Given the description of an element on the screen output the (x, y) to click on. 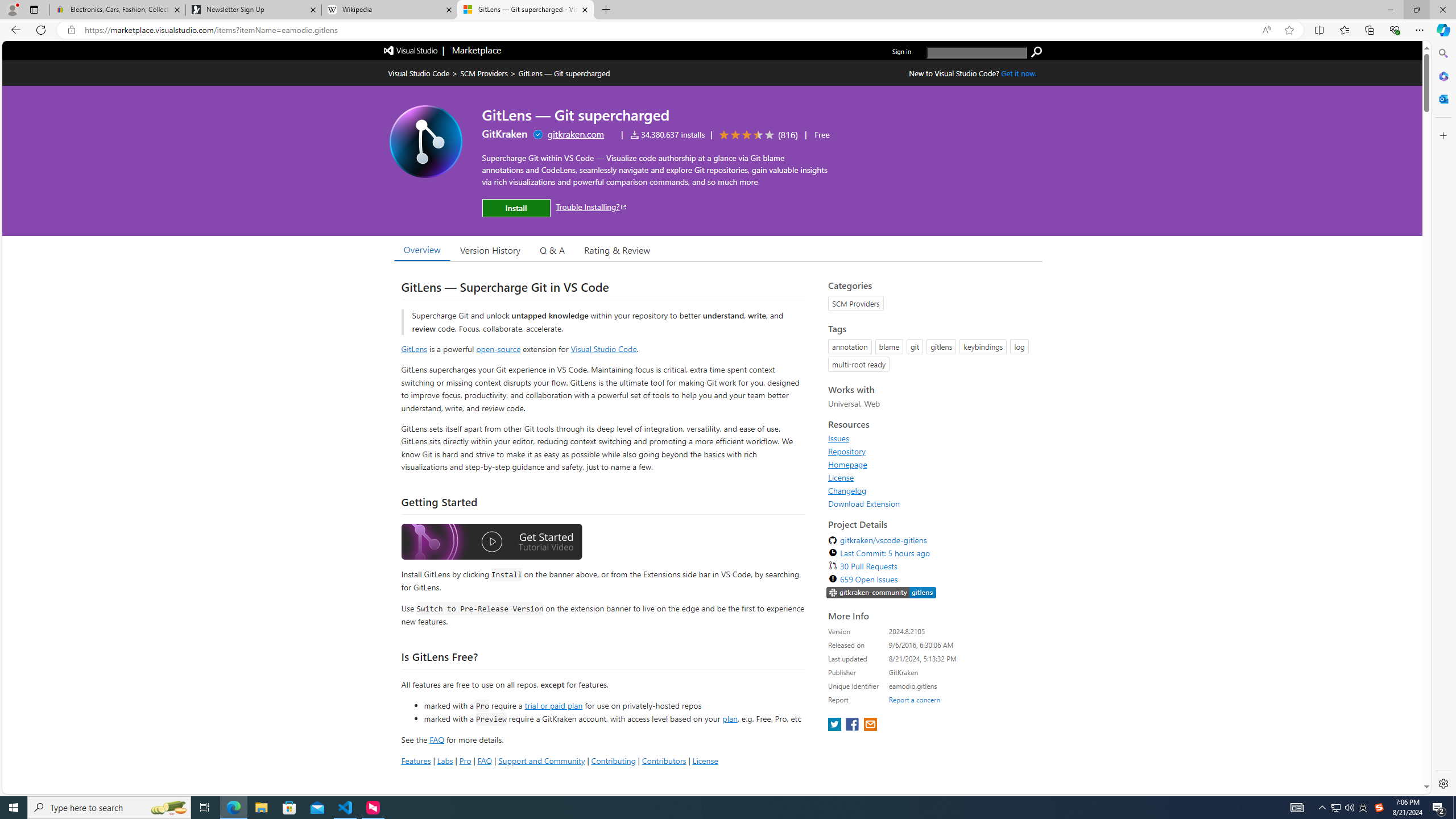
Repository (847, 451)
Q & A (552, 249)
Average rating: 3.7 out of 5. Navigate to user reviews. (756, 134)
More from GitKraken publisher (504, 133)
Pro (464, 760)
share extension on twitter (835, 725)
Visual Studio logo Marketplace logo (441, 50)
Newsletter Sign Up (253, 9)
Homepage (847, 464)
share extension on facebook (853, 725)
